Given the description of an element on the screen output the (x, y) to click on. 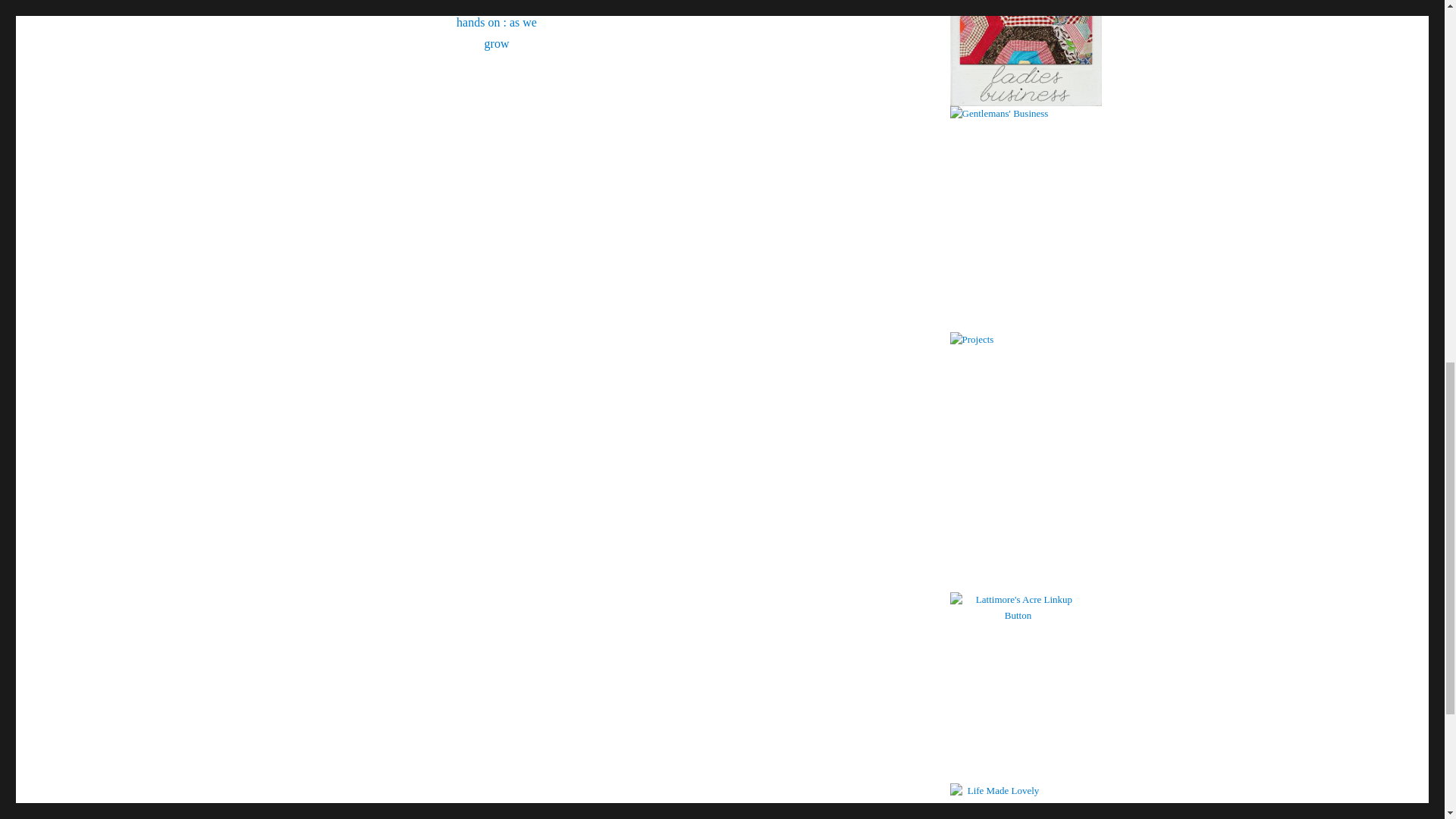
It's Playtime at hands on : as we grow (676, 42)
